Given the description of an element on the screen output the (x, y) to click on. 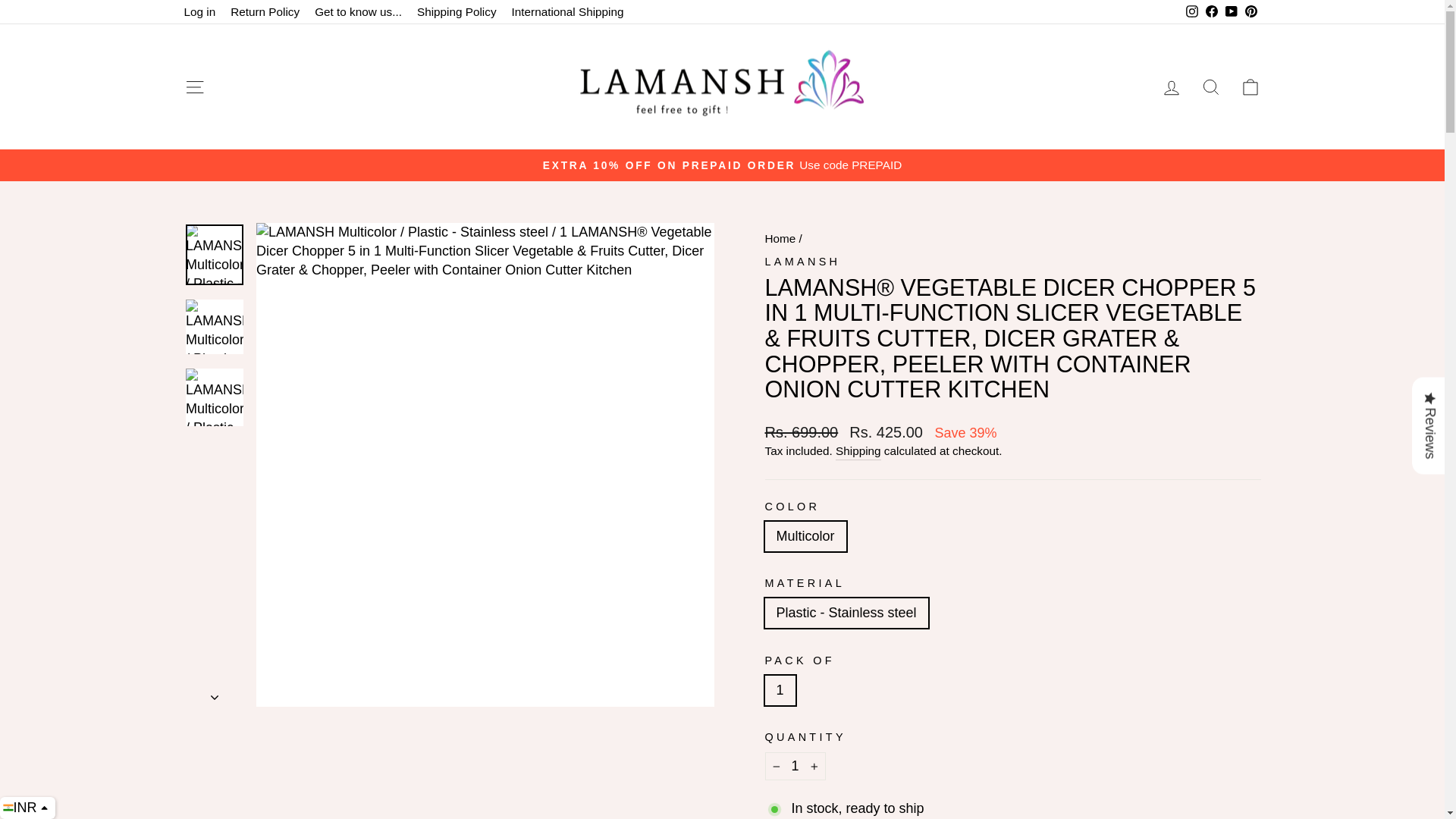
1 (794, 766)
